Given the description of an element on the screen output the (x, y) to click on. 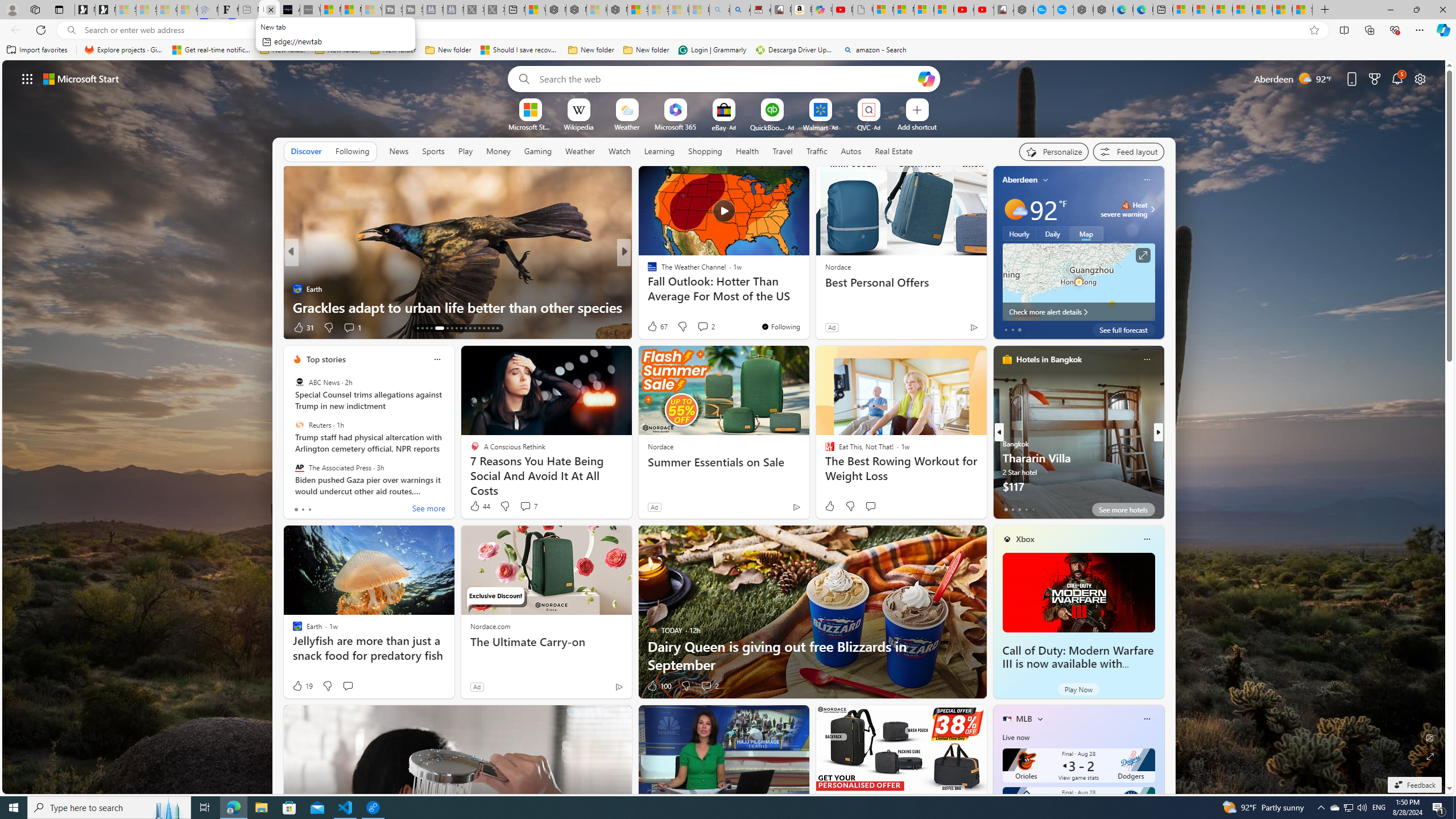
YouTube Kids - An App Created for Kids to Explore Content (983, 9)
Open Copilot (925, 78)
More Options (886, 101)
Nordace - Nordace Siena Is Not An Ordinary Backpack (616, 9)
News (398, 151)
Feed settings (1128, 151)
View comments 124 Comment (703, 327)
Start the conversation (347, 685)
Gaming (537, 151)
Health (746, 151)
Class: icon-img (1146, 718)
